Given the description of an element on the screen output the (x, y) to click on. 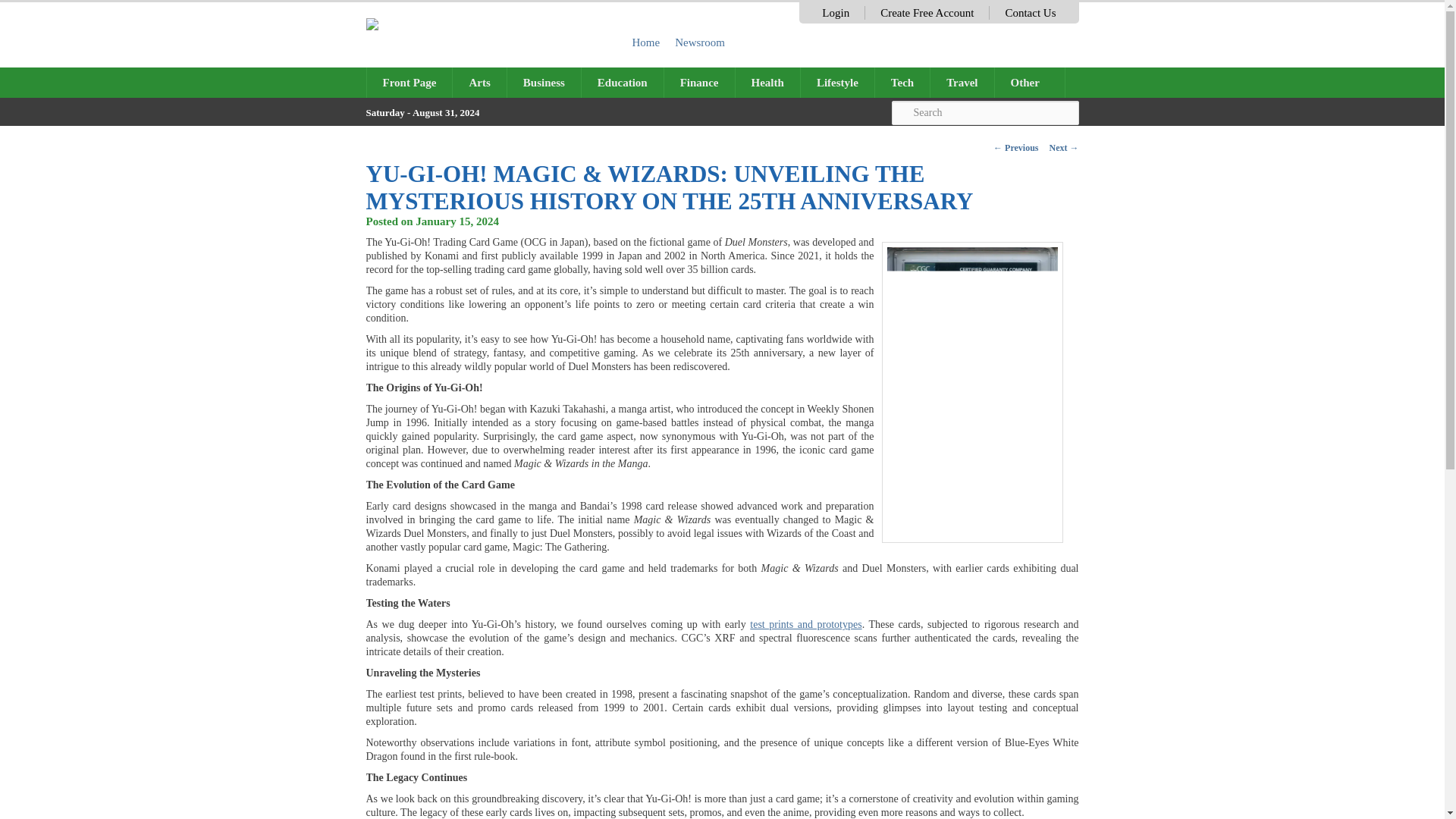
Search (984, 112)
Arts (478, 82)
Tech (901, 82)
Travel (961, 82)
Health (767, 82)
Contact Us (1030, 12)
Business (544, 82)
Home (646, 42)
Finance (698, 82)
Education (622, 82)
